Given the description of an element on the screen output the (x, y) to click on. 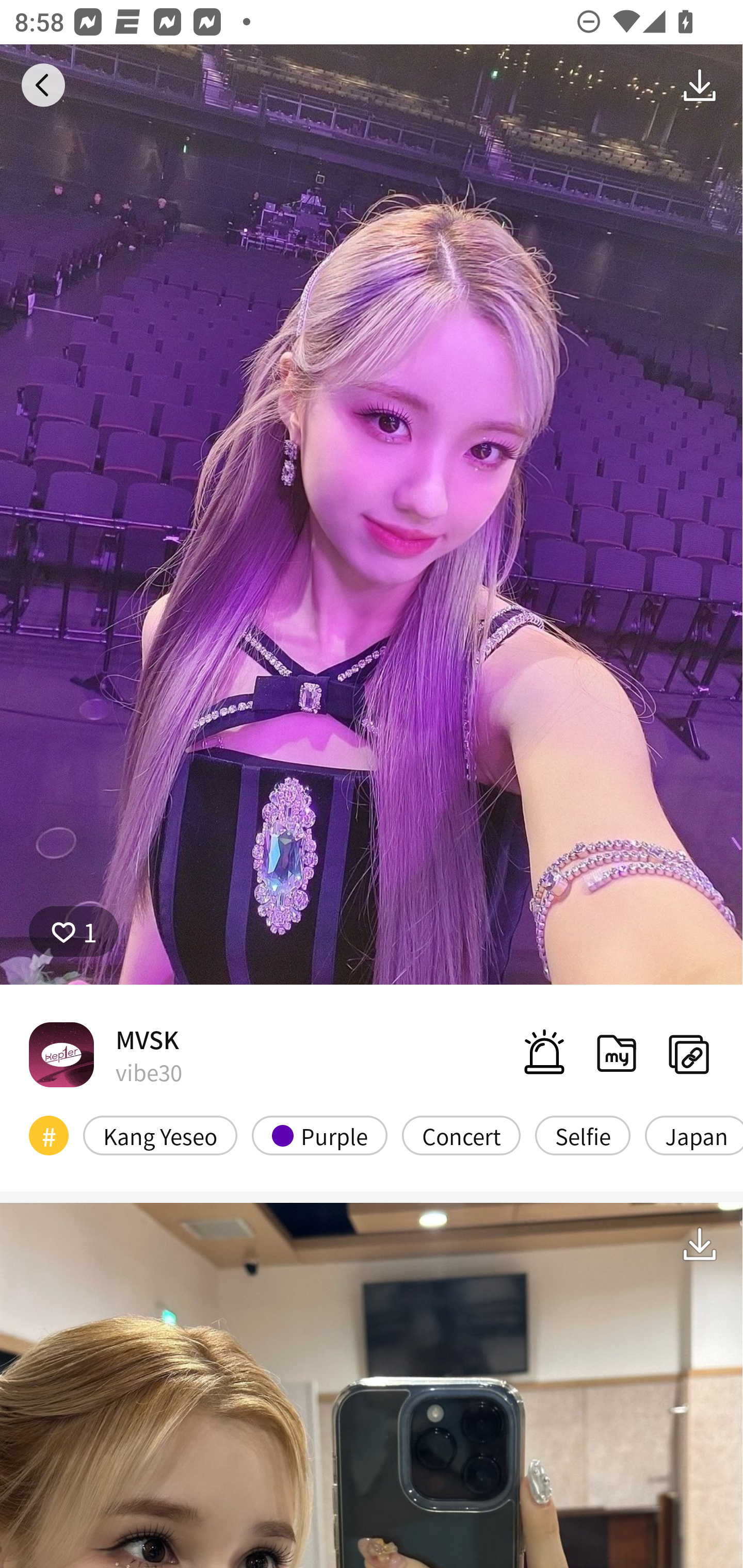
1 (73, 932)
MVSK vibe30 (105, 1054)
Kang Yeseo (160, 1135)
Purple (319, 1135)
Concert (460, 1135)
Selfie (582, 1135)
Japan (693, 1135)
